Given the description of an element on the screen output the (x, y) to click on. 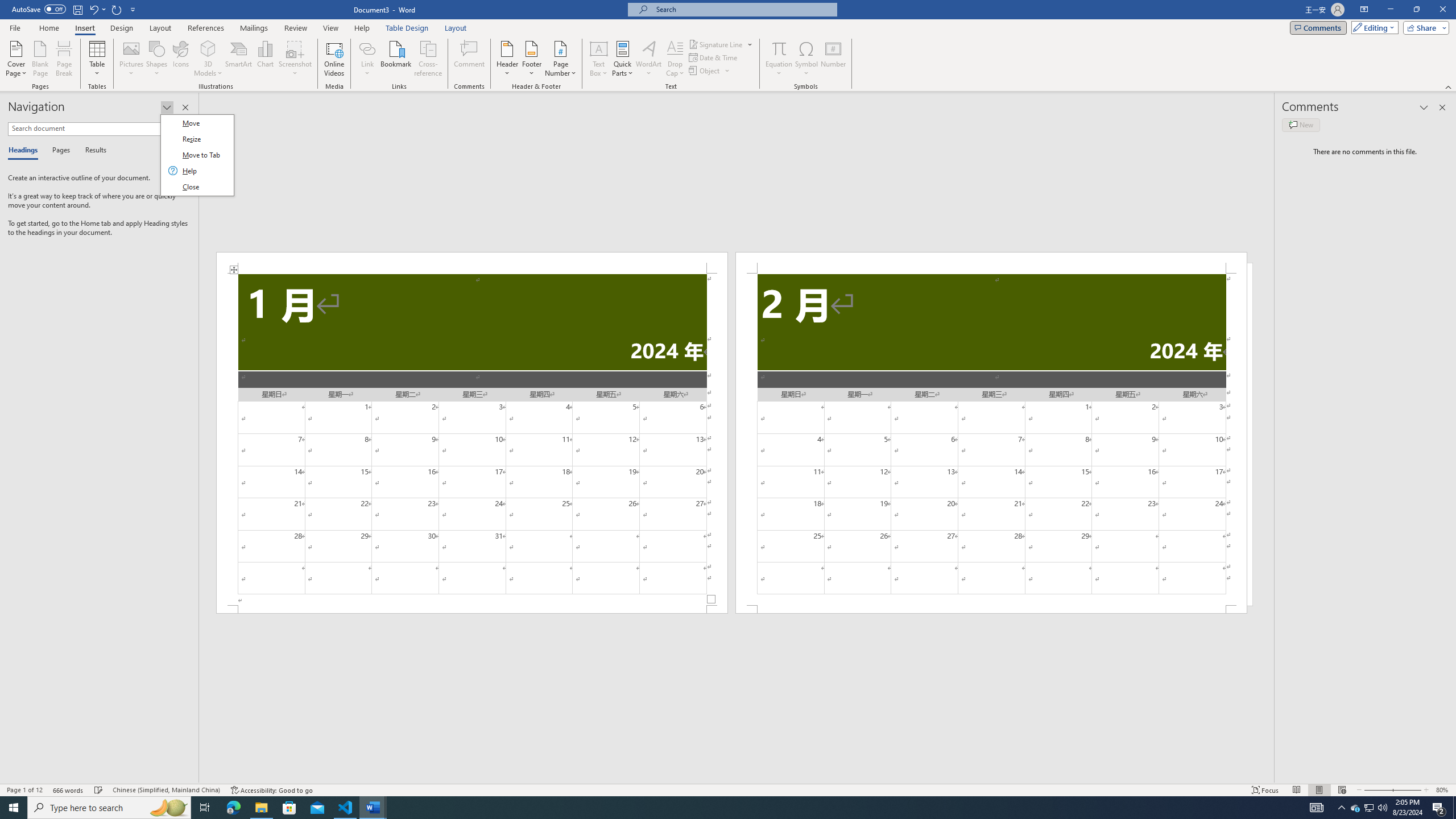
Page 2 content (991, 439)
Class: MsoCommandBar (728, 789)
Undo Increase Indent (96, 9)
SmartArt... (238, 58)
Comment (469, 58)
Link (367, 58)
Signature Line (721, 44)
Text Box (598, 58)
